Given the description of an element on the screen output the (x, y) to click on. 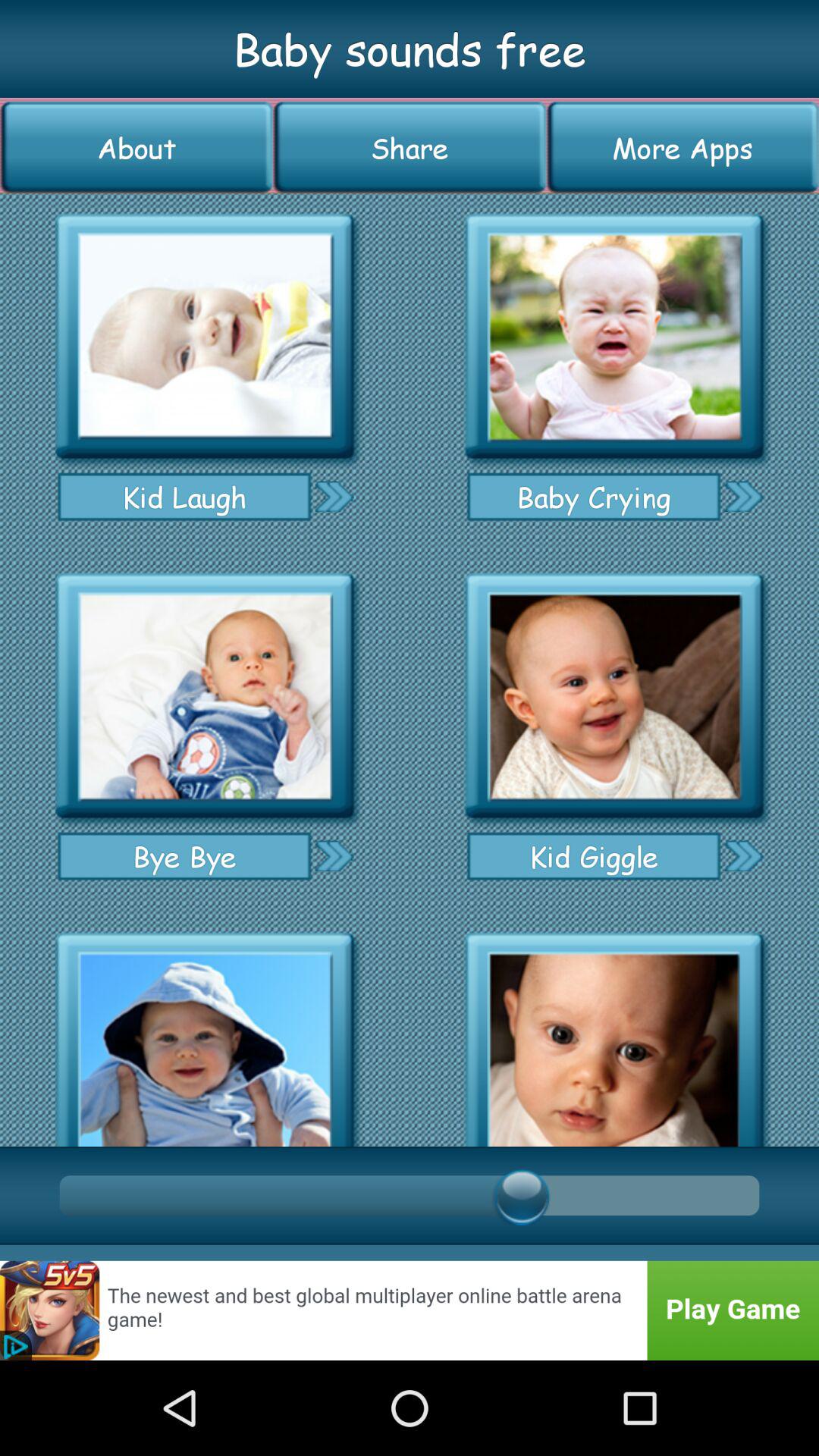
open advertisement (409, 1310)
